Given the description of an element on the screen output the (x, y) to click on. 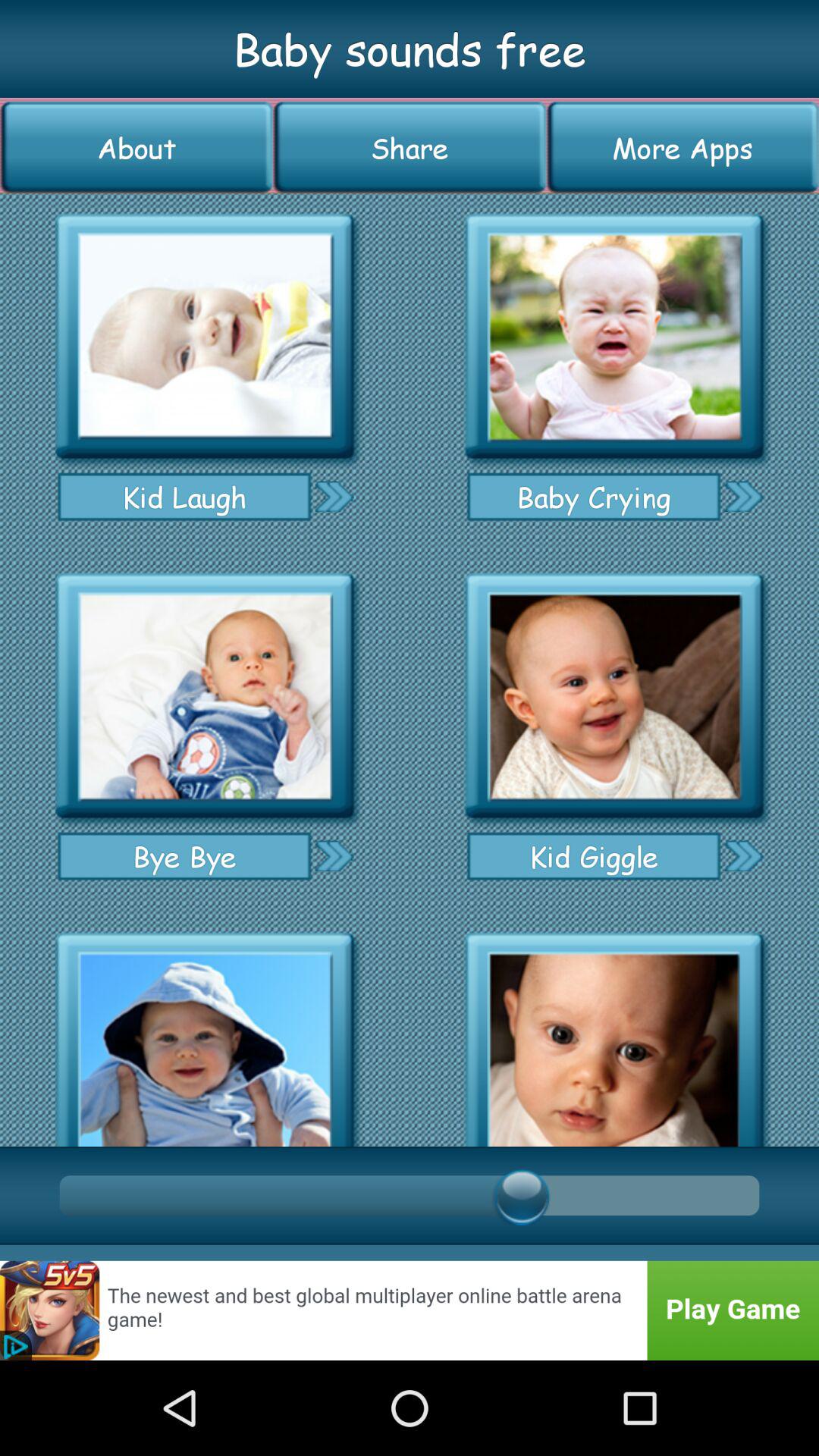
open advertisement (409, 1310)
